Given the description of an element on the screen output the (x, y) to click on. 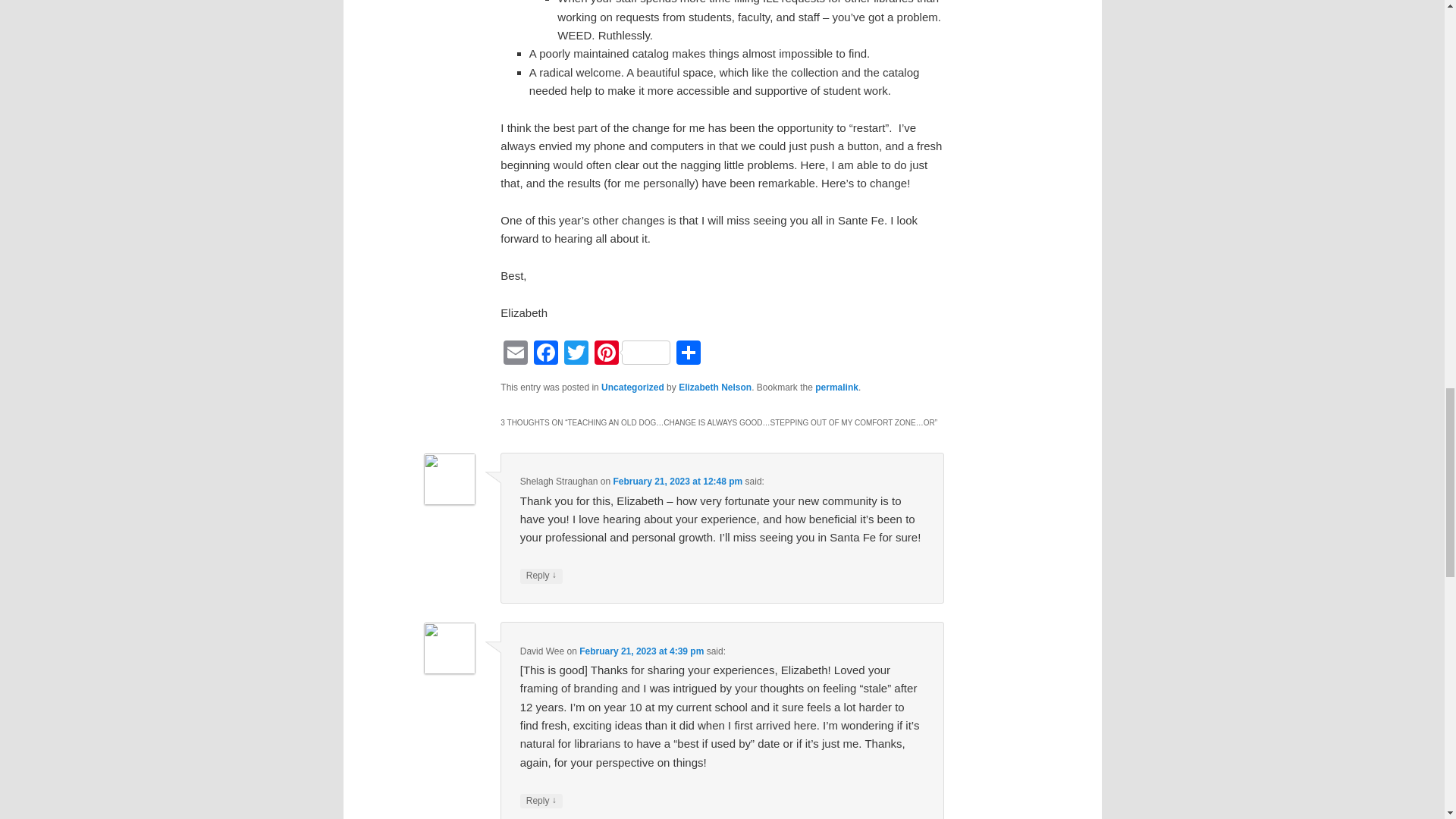
Facebook (545, 354)
Twitter (575, 354)
Facebook (545, 354)
permalink (837, 387)
Email (515, 354)
February 21, 2023 at 12:48 pm (677, 480)
February 21, 2023 at 4:39 pm (641, 651)
Email (515, 354)
Twitter (575, 354)
Pinterest (631, 354)
Pinterest (631, 354)
Uncategorized (632, 387)
Elizabeth Nelson (714, 387)
